Given the description of an element on the screen output the (x, y) to click on. 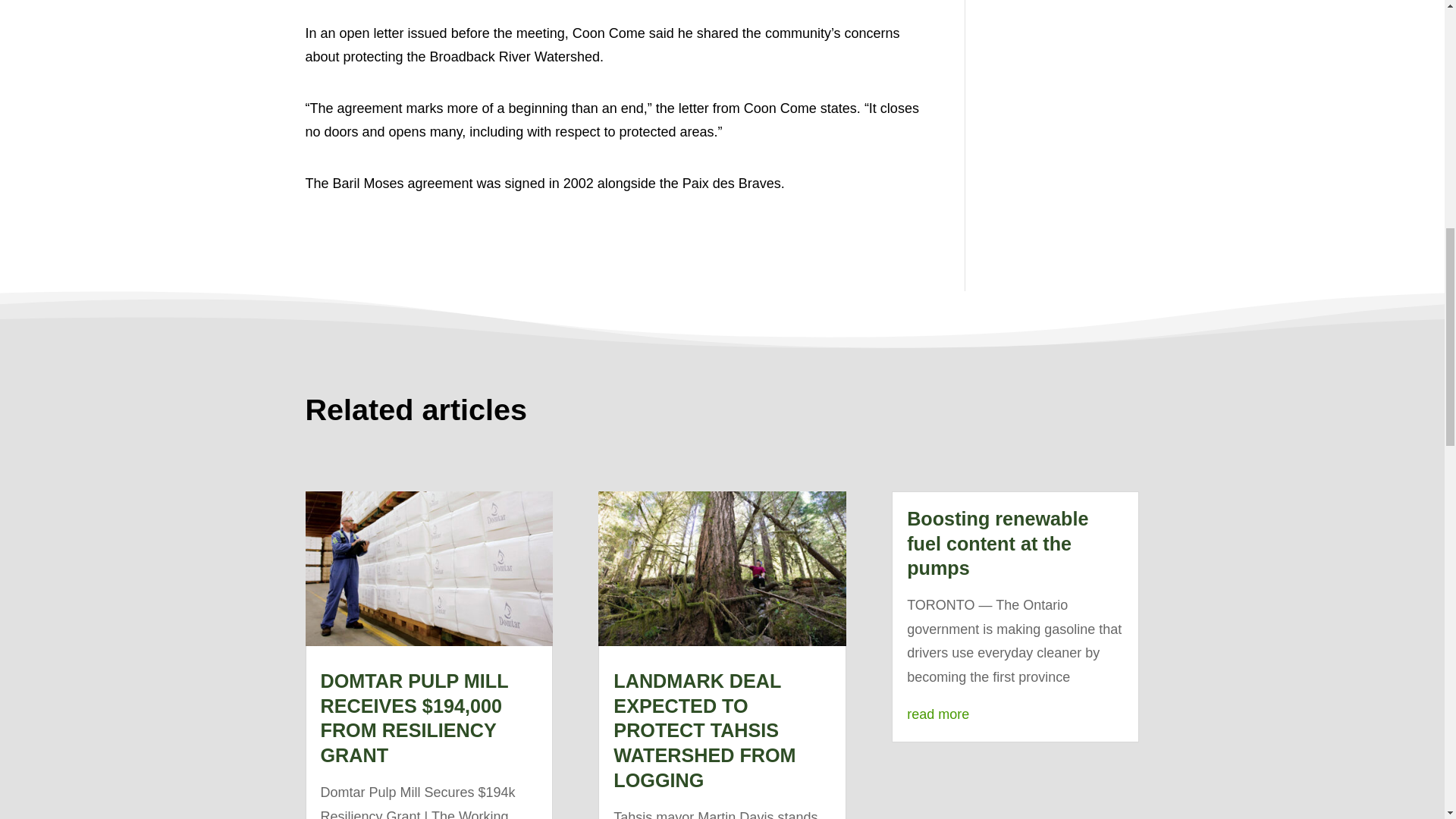
Boosting renewable fuel content at the pumps (997, 543)
read more (938, 713)
